Given the description of an element on the screen output the (x, y) to click on. 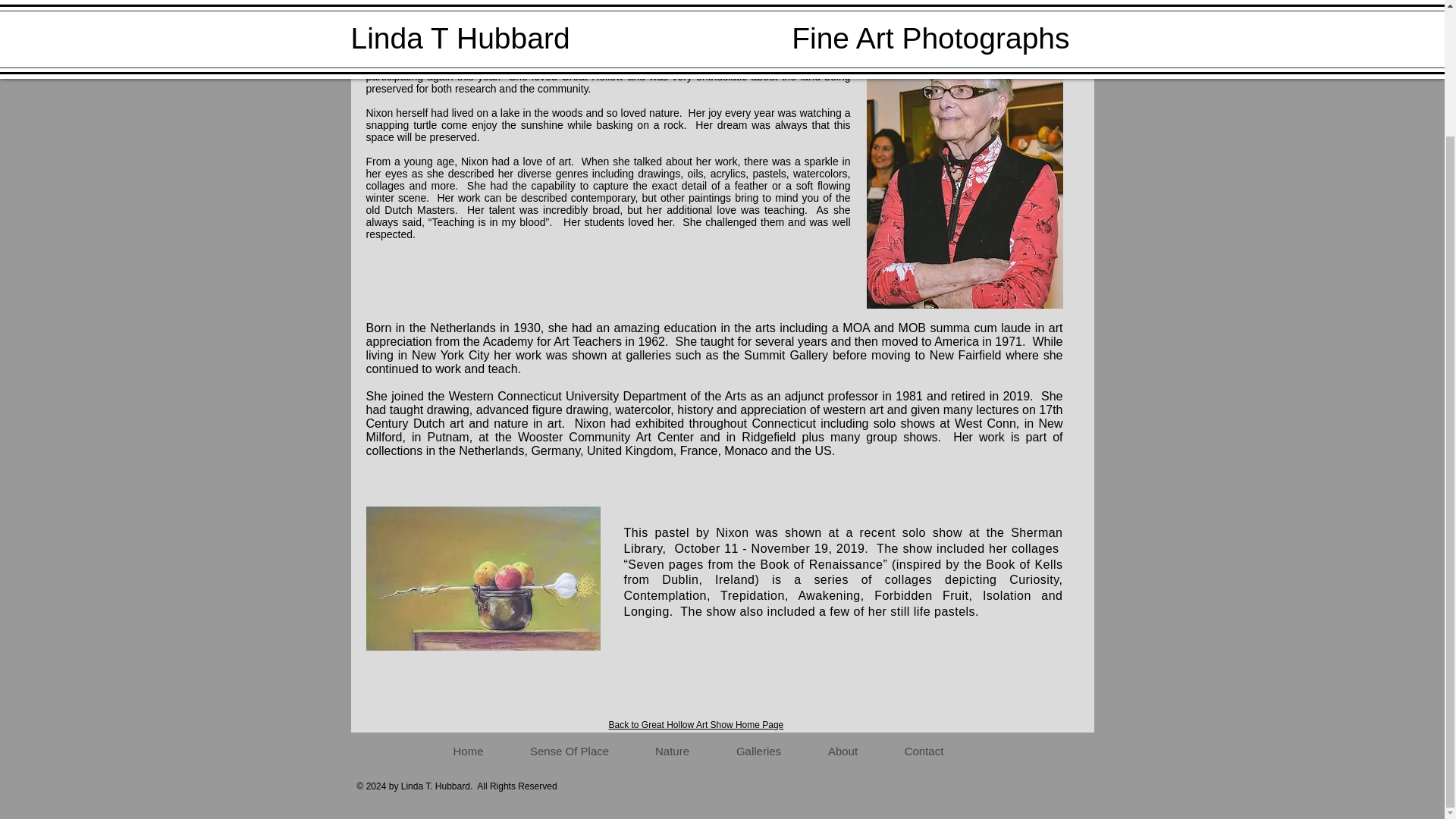
Home (467, 751)
About (841, 751)
Sense Of Place (568, 751)
Contact (923, 751)
Nature (670, 751)
Back to Great Hollow Art Show Home Page (695, 724)
